Given the description of an element on the screen output the (x, y) to click on. 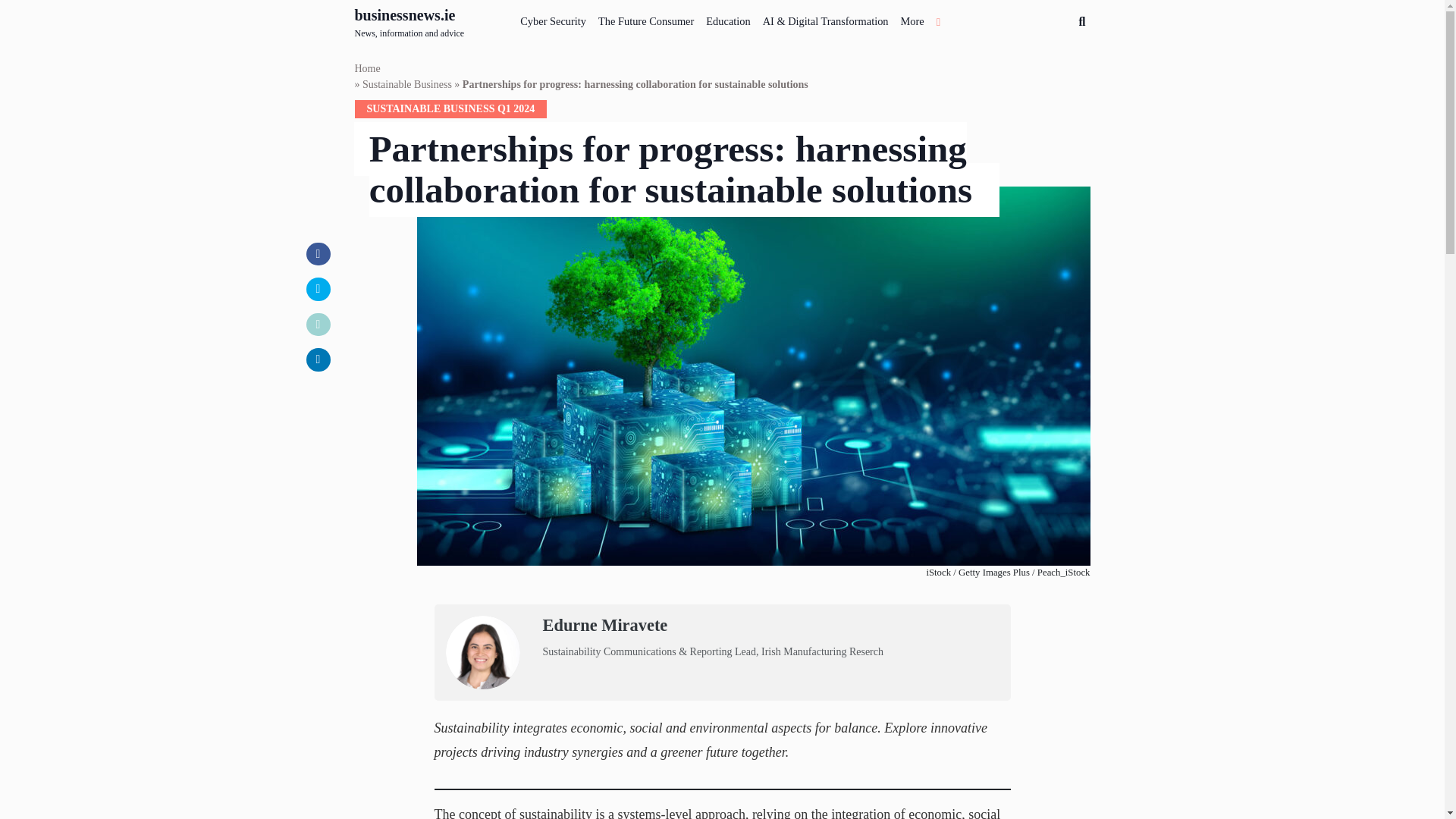
Education (727, 18)
More (912, 18)
Cyber Security (409, 22)
The Future Consumer (552, 18)
